Given the description of an element on the screen output the (x, y) to click on. 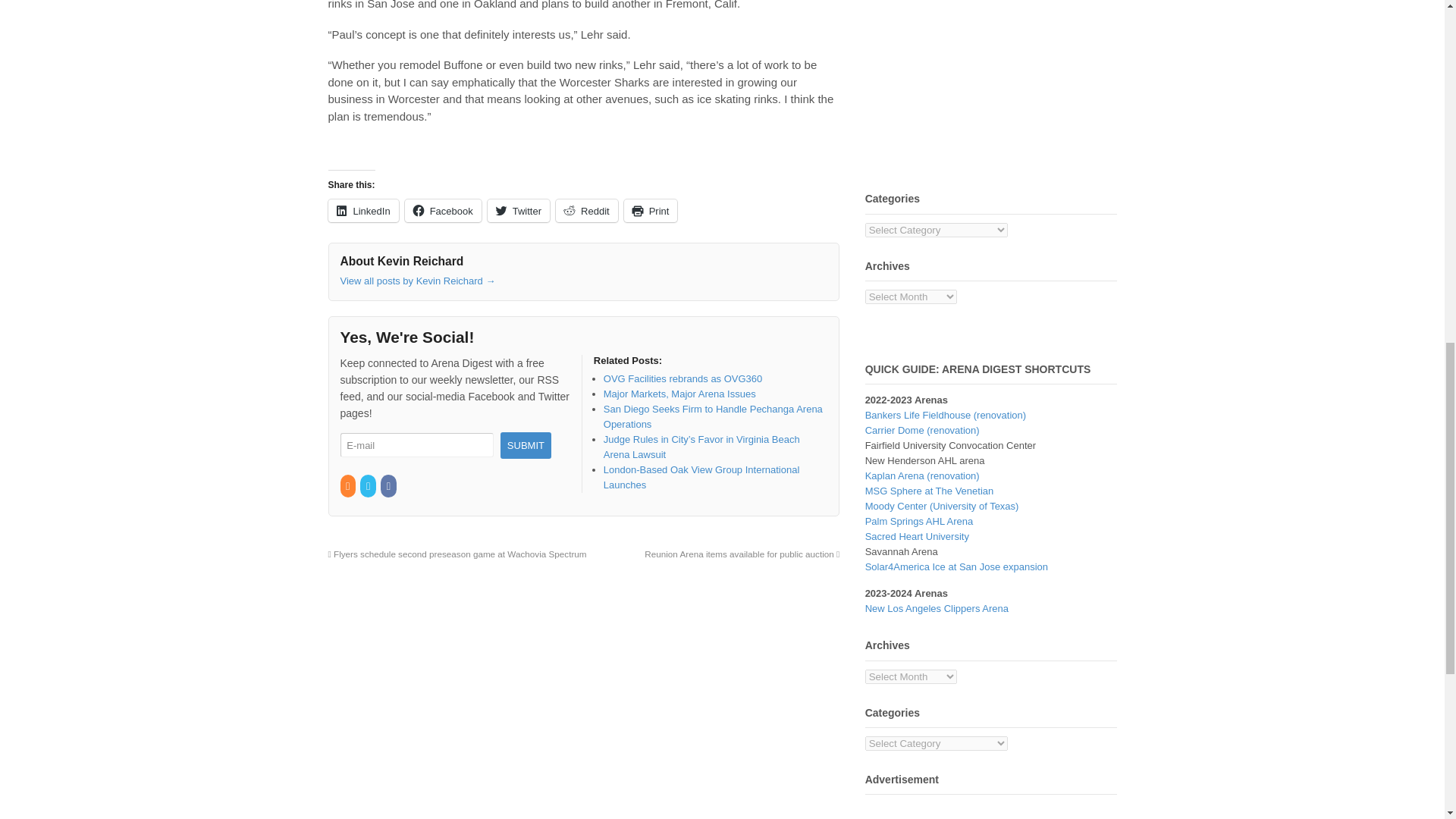
Facebook (442, 210)
Twitter (518, 210)
Facebook (388, 486)
Click to share on Reddit (586, 210)
E-mail (416, 445)
RSS (347, 486)
Click to print (651, 210)
Print (651, 210)
Twitter (368, 486)
Submit (525, 445)
Major Markets, Major Arena Issues (679, 393)
Click to share on LinkedIn (362, 210)
LinkedIn (362, 210)
Click to share on Twitter (518, 210)
OVG Facilities rebrands as OVG360 (683, 378)
